Given the description of an element on the screen output the (x, y) to click on. 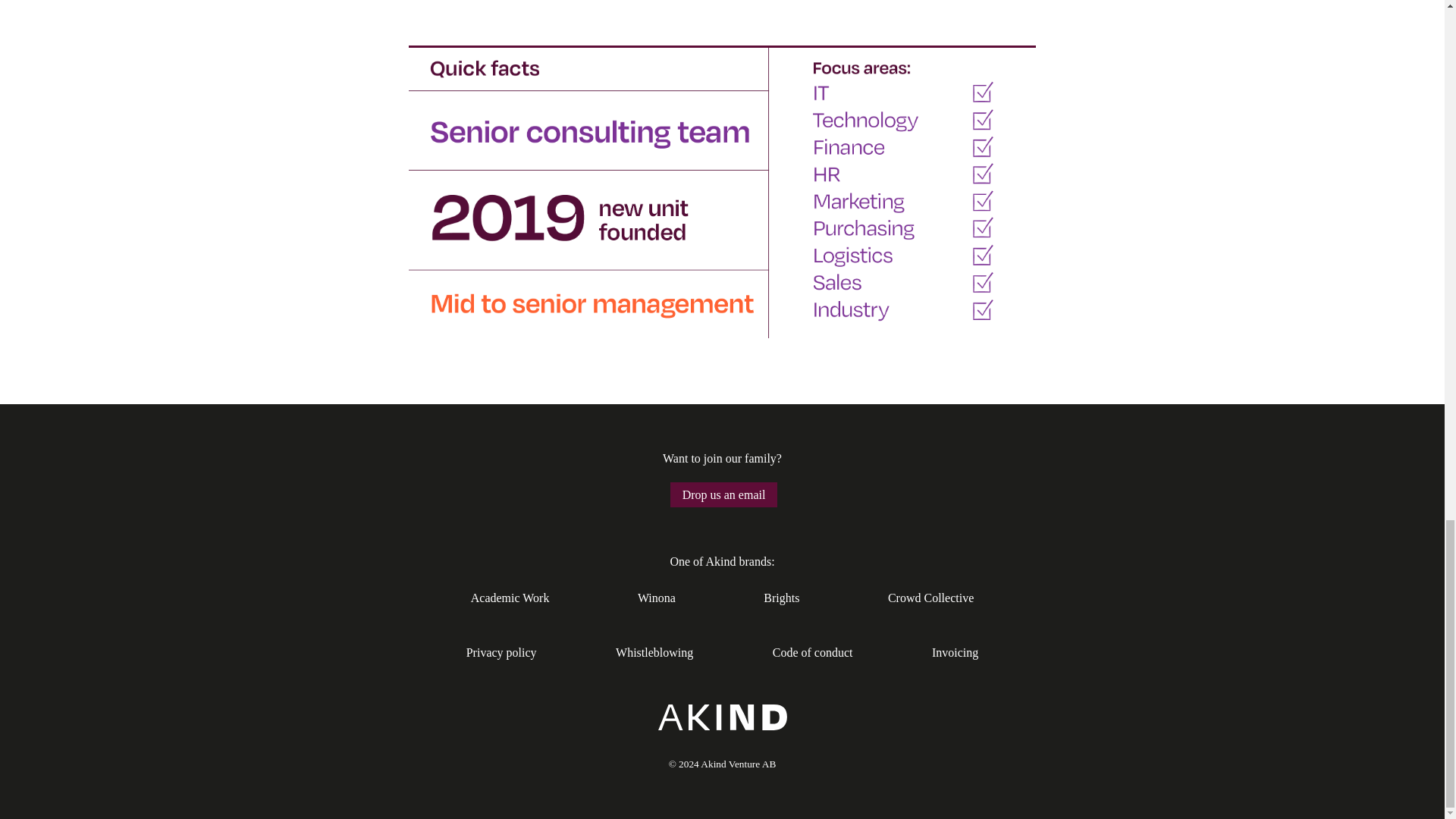
Winona (656, 597)
Privacy policy (501, 652)
Code of conduct (813, 652)
Brights (780, 597)
Drop us an email (723, 494)
Invoicing (954, 652)
Whistleblowing (654, 652)
Crowd Collective (931, 597)
Academic Work (510, 597)
